Given the description of an element on the screen output the (x, y) to click on. 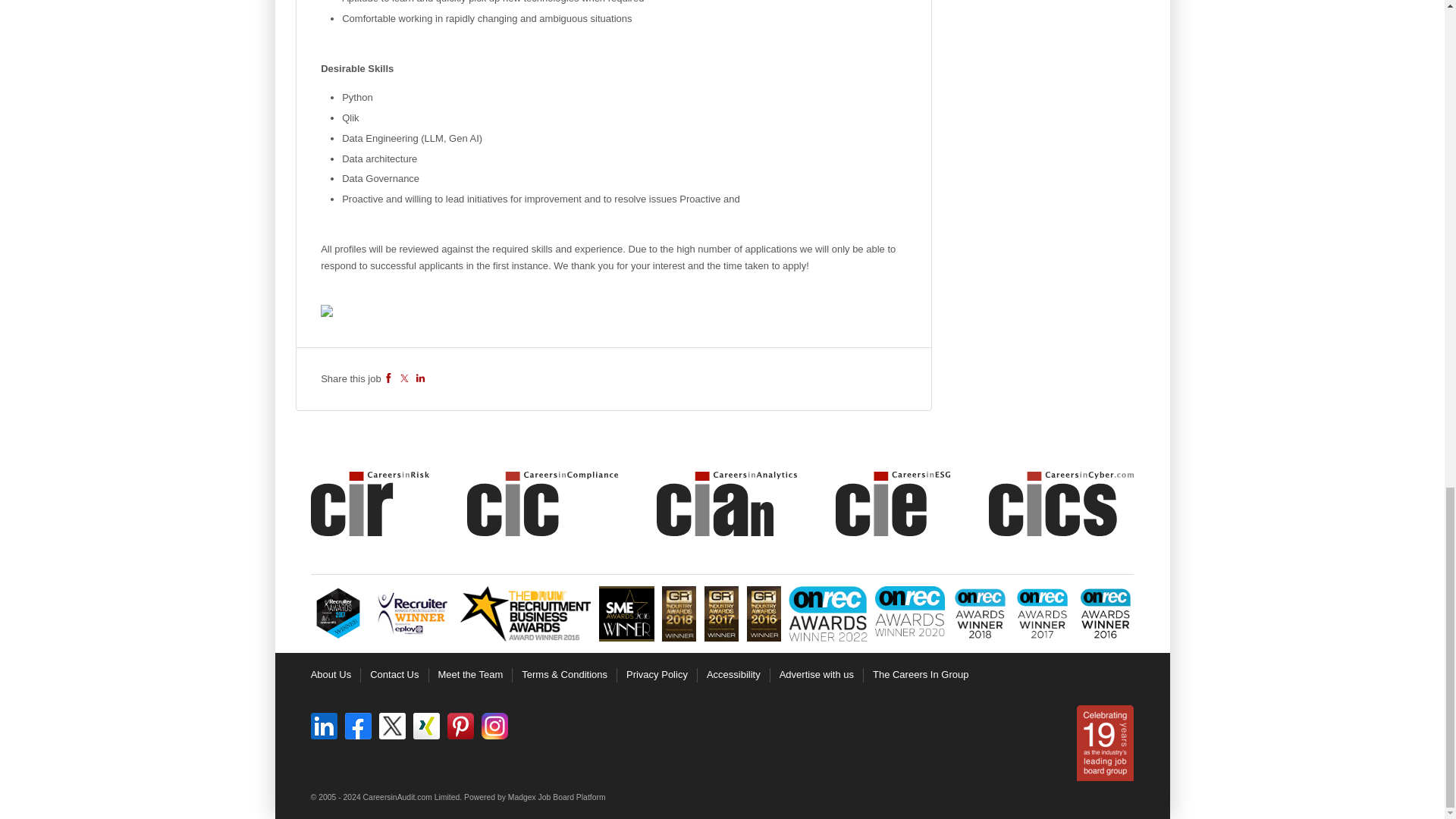
Cyber Security jobs (1061, 503)
Compliance jobs (542, 503)
Data Analytics jobs (726, 503)
ESG jobs (892, 503)
Risk jobs (370, 503)
